Given the description of an element on the screen output the (x, y) to click on. 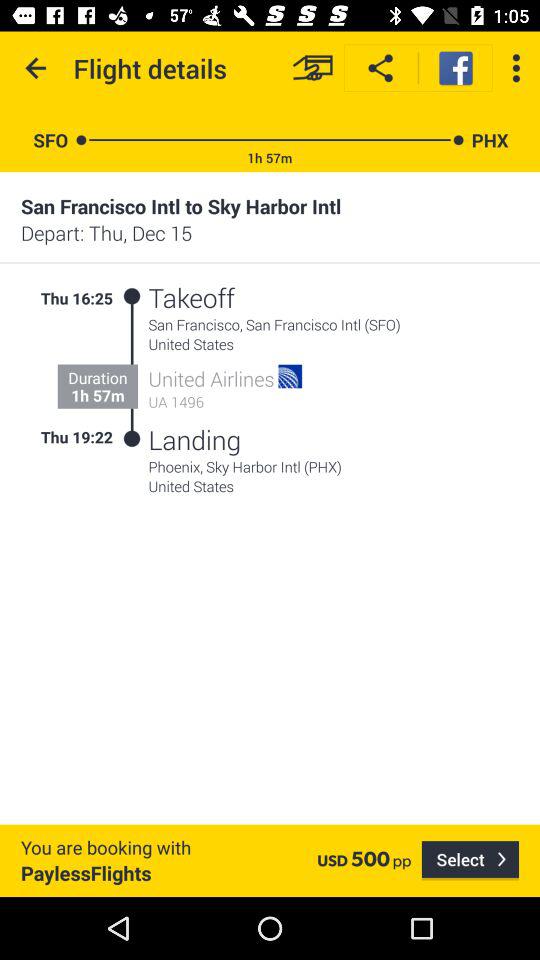
scroll to select (470, 860)
